Given the description of an element on the screen output the (x, y) to click on. 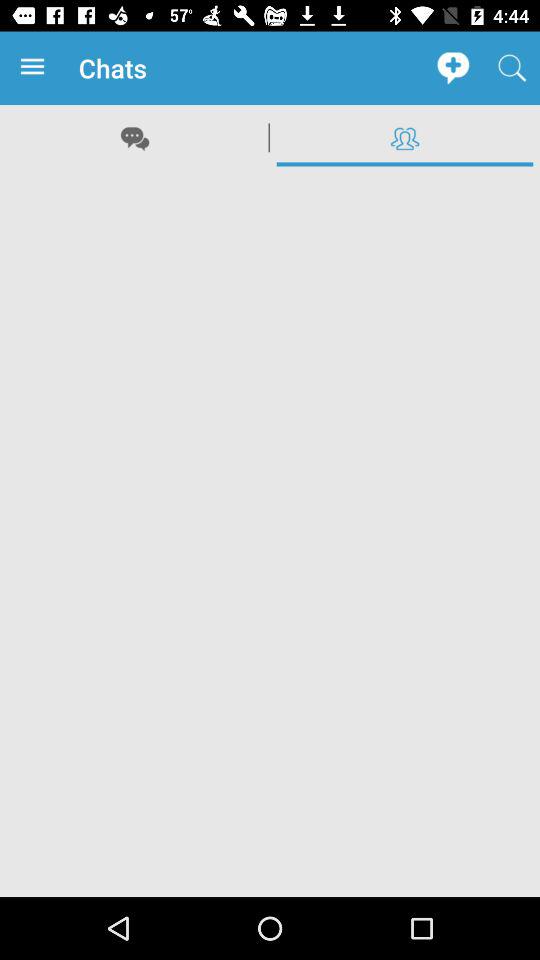
launch the item to the left of the chats item (36, 68)
